Given the description of an element on the screen output the (x, y) to click on. 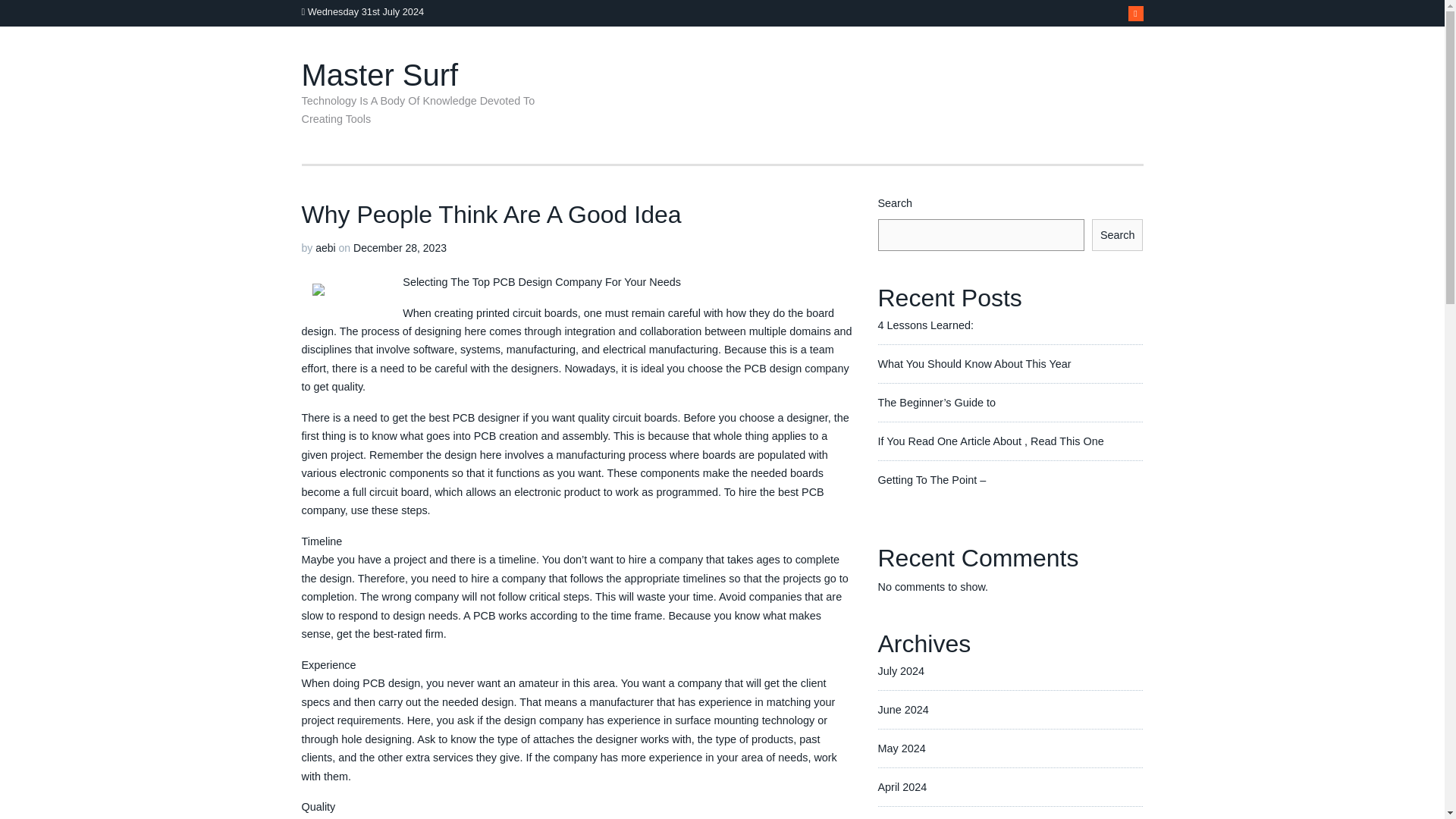
Search (1117, 234)
Master Surf (379, 74)
August 2024 (908, 671)
June 2024 (902, 748)
What You Should Know About This Year (974, 440)
December 28, 2023 (399, 247)
aebi (324, 247)
July 2024 (900, 709)
May 2024 (901, 787)
4 Lessons Learned: (925, 402)
Master Surf (379, 74)
